Given the description of an element on the screen output the (x, y) to click on. 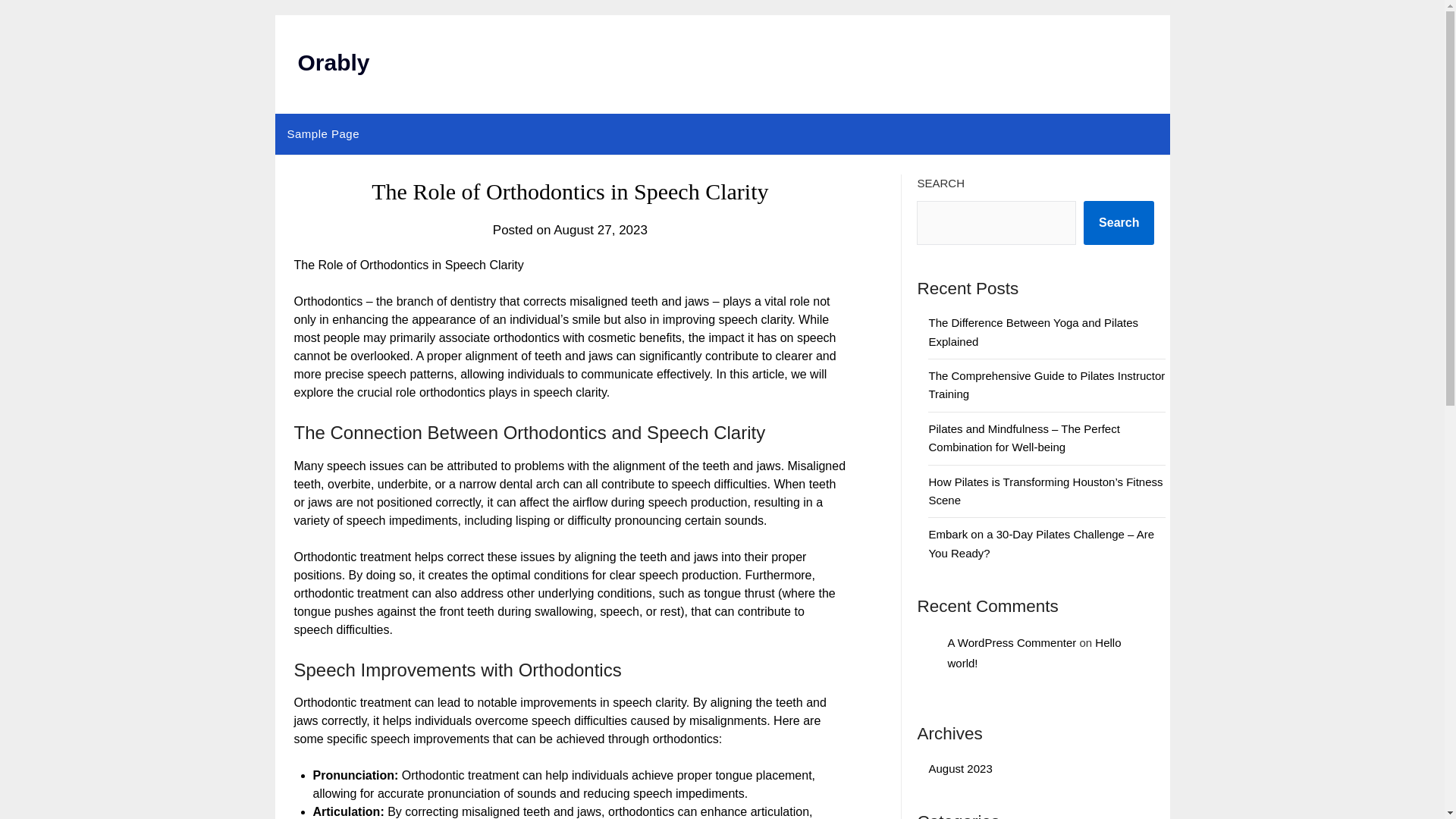
Hello world! (1034, 652)
The Difference Between Yoga and Pilates Explained (1033, 331)
The Comprehensive Guide to Pilates Instructor Training (1046, 384)
August 2023 (959, 768)
A WordPress Commenter (1011, 642)
Orably (333, 62)
Search (1118, 222)
Sample Page (323, 133)
